Given the description of an element on the screen output the (x, y) to click on. 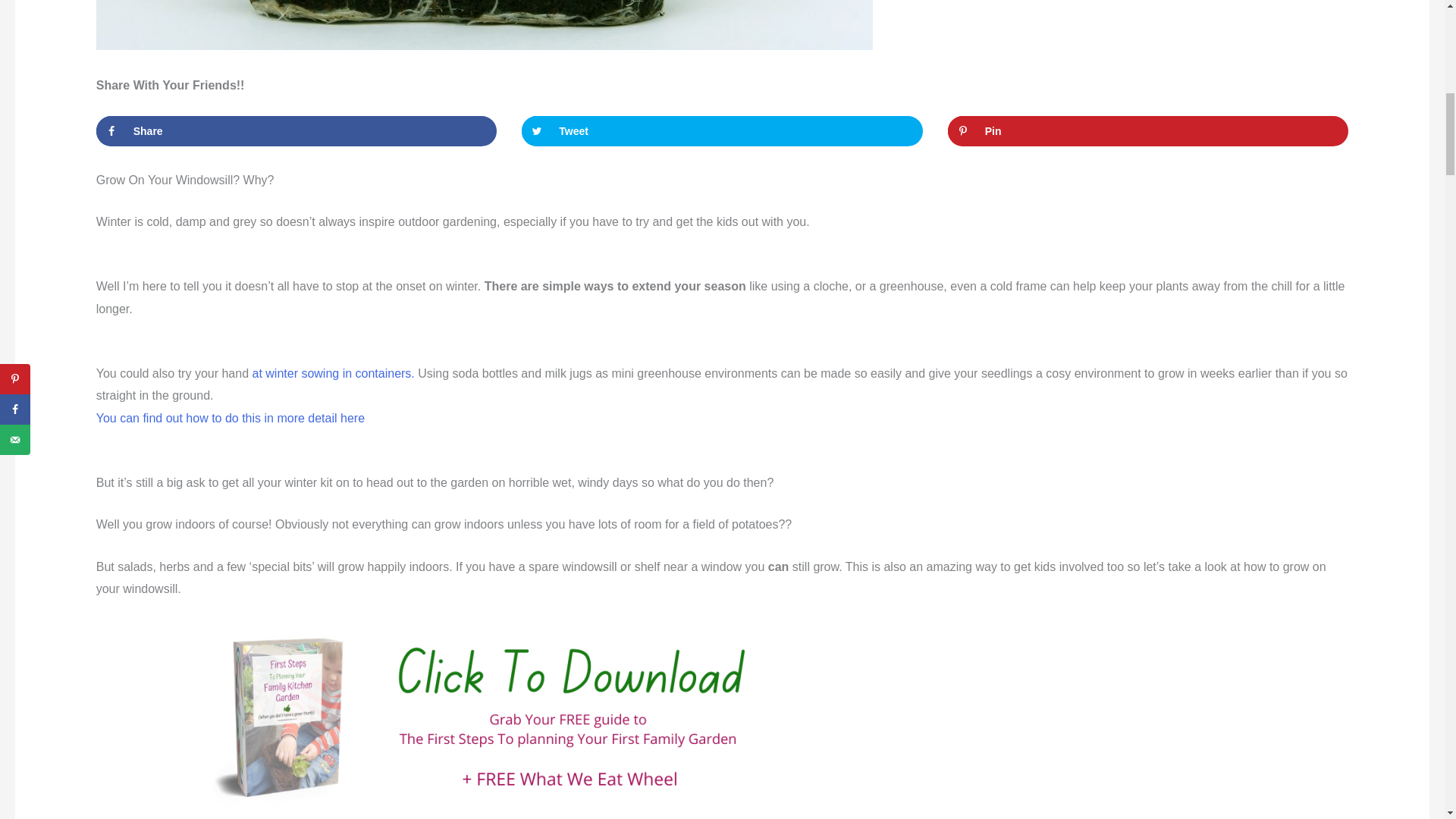
Save to Pinterest (1148, 131)
Tweet (722, 131)
at winter sowing in containers. (332, 373)
You can find out how to do this in more detail here (230, 418)
Share on Twitter (722, 131)
Share (296, 131)
Share on Facebook (296, 131)
Pin (1148, 131)
